Given the description of an element on the screen output the (x, y) to click on. 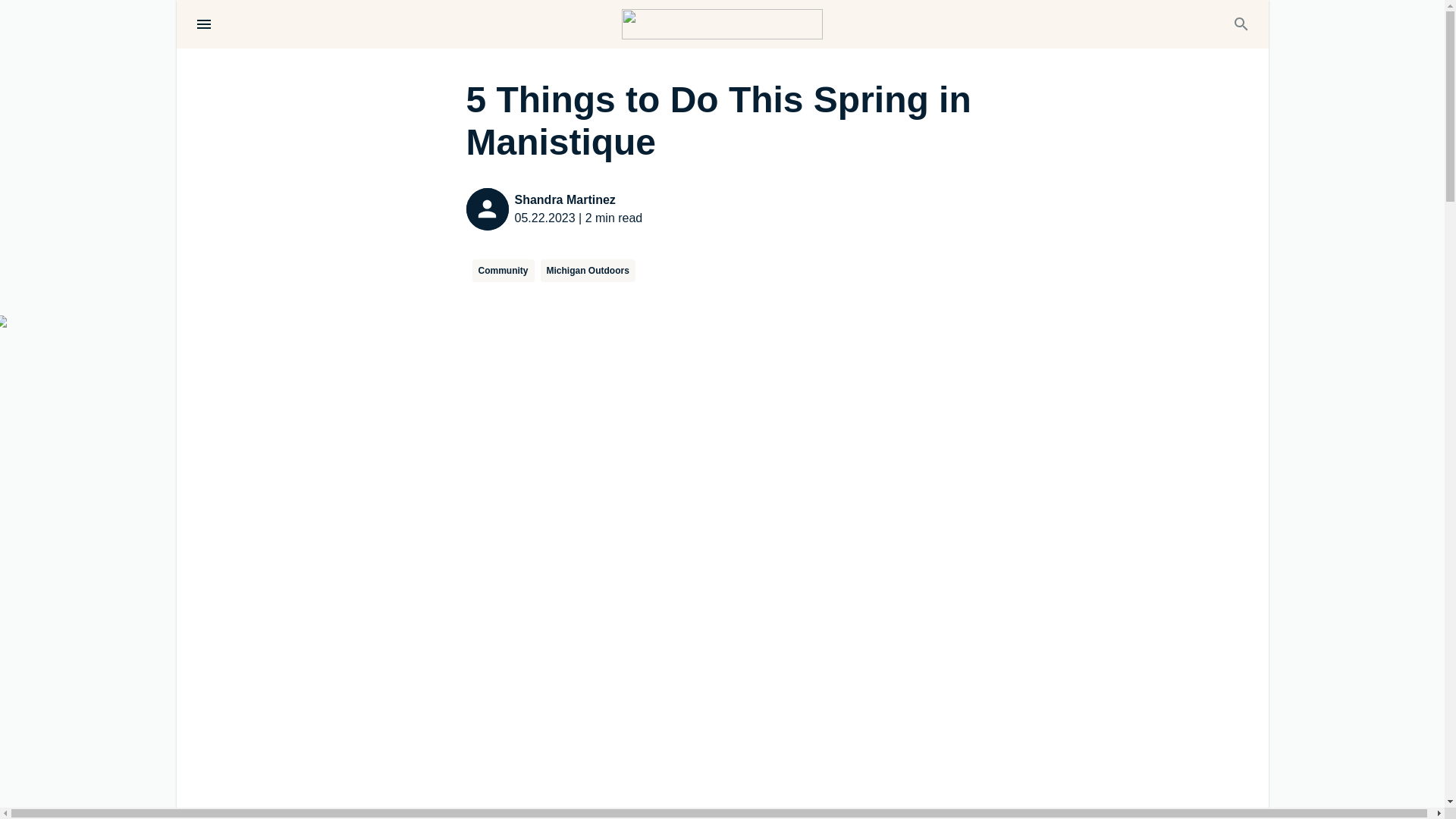
Shandra Martinez (577, 199)
Community (502, 270)
Michigan Outdoors (587, 270)
